Given the description of an element on the screen output the (x, y) to click on. 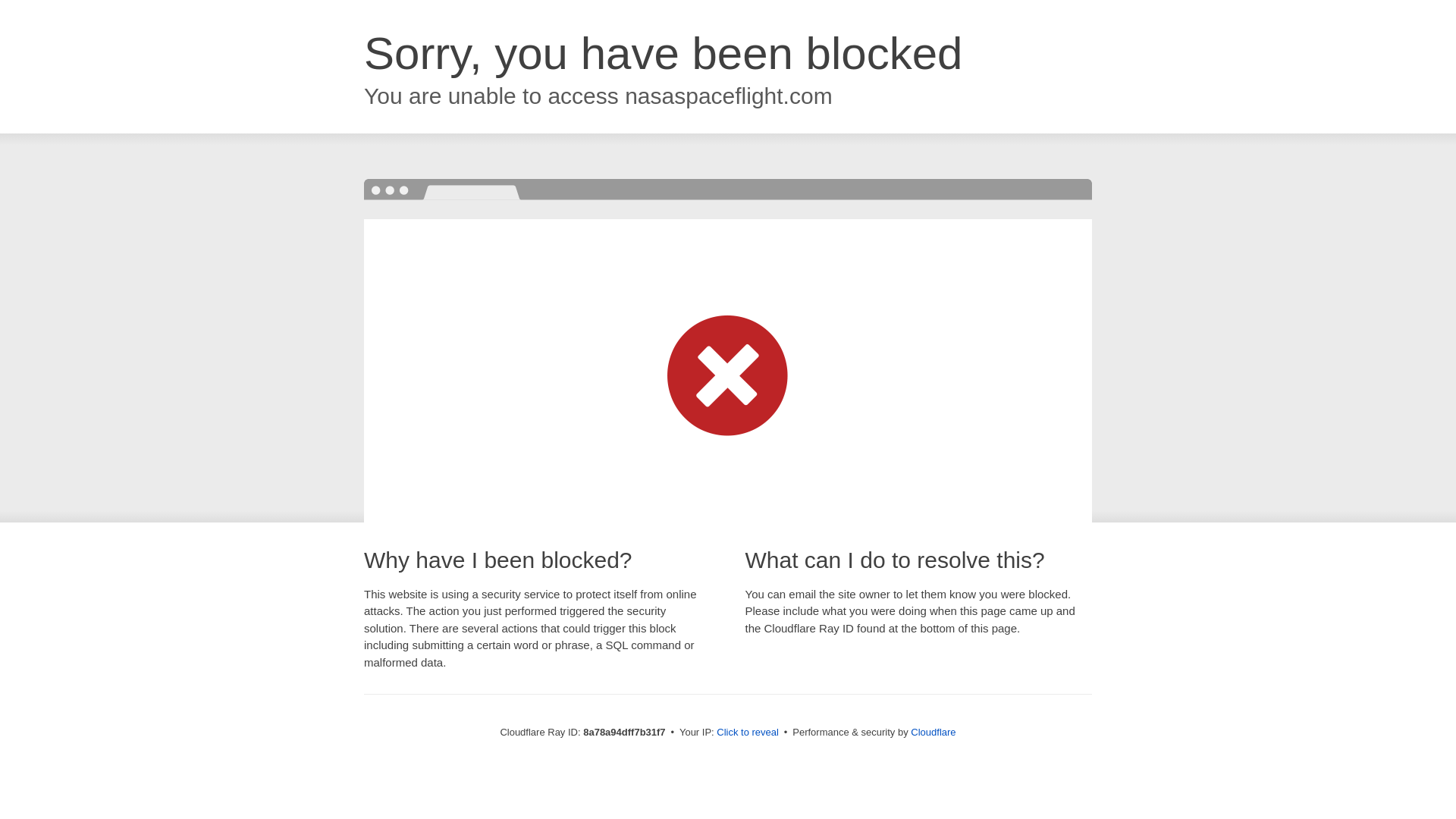
Click to reveal (747, 732)
Cloudflare (933, 731)
